Given the description of an element on the screen output the (x, y) to click on. 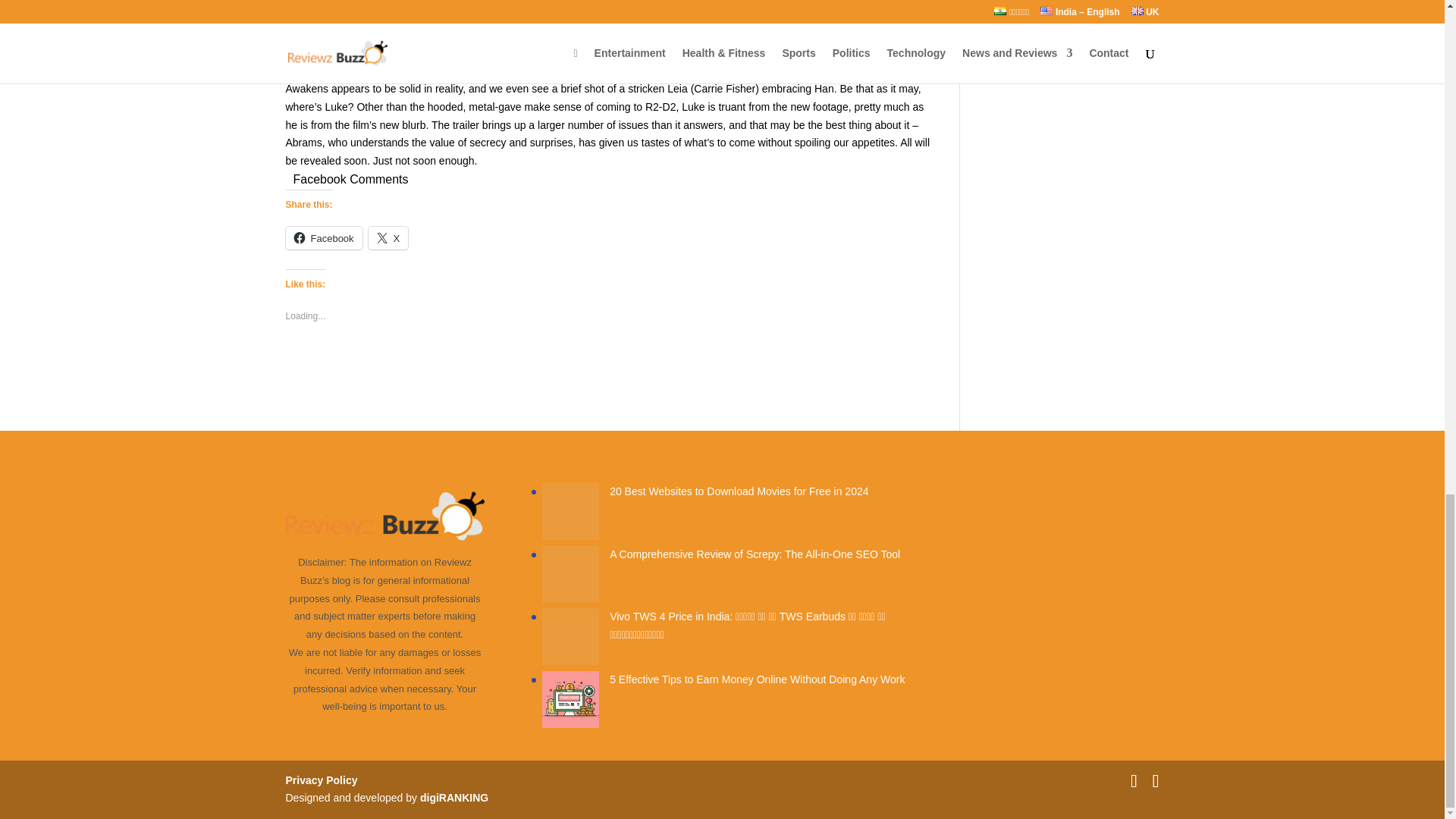
Click to share on Facebook (323, 237)
Facebook (323, 237)
Click to share on X (388, 237)
X (388, 237)
